Given the description of an element on the screen output the (x, y) to click on. 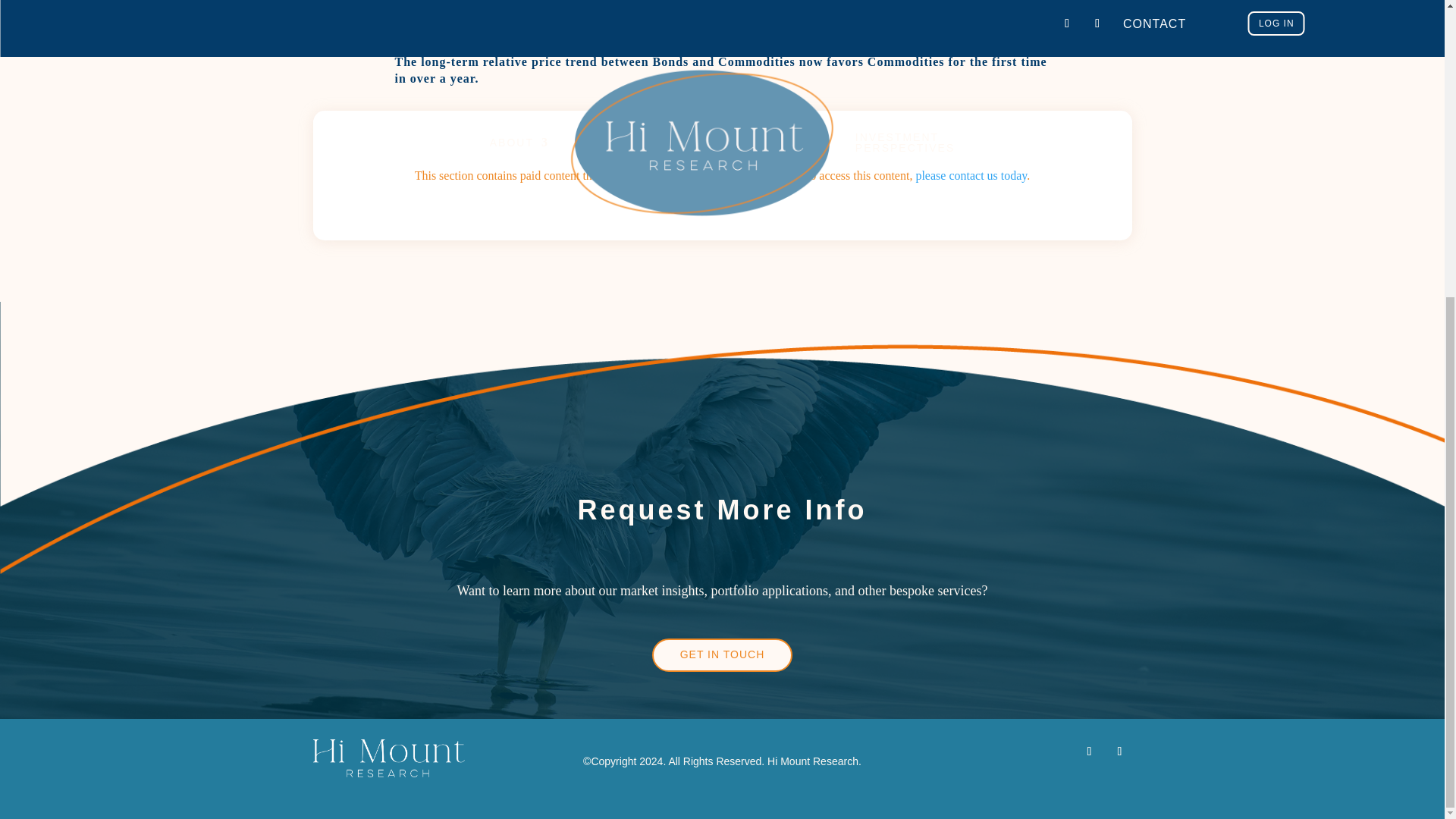
Follow on LinkedIn (1118, 751)
hi-mount-research-logo-white-text (388, 757)
Posts by Willie Delwiche (467, 10)
Follow on X (1088, 751)
